Given the description of an element on the screen output the (x, y) to click on. 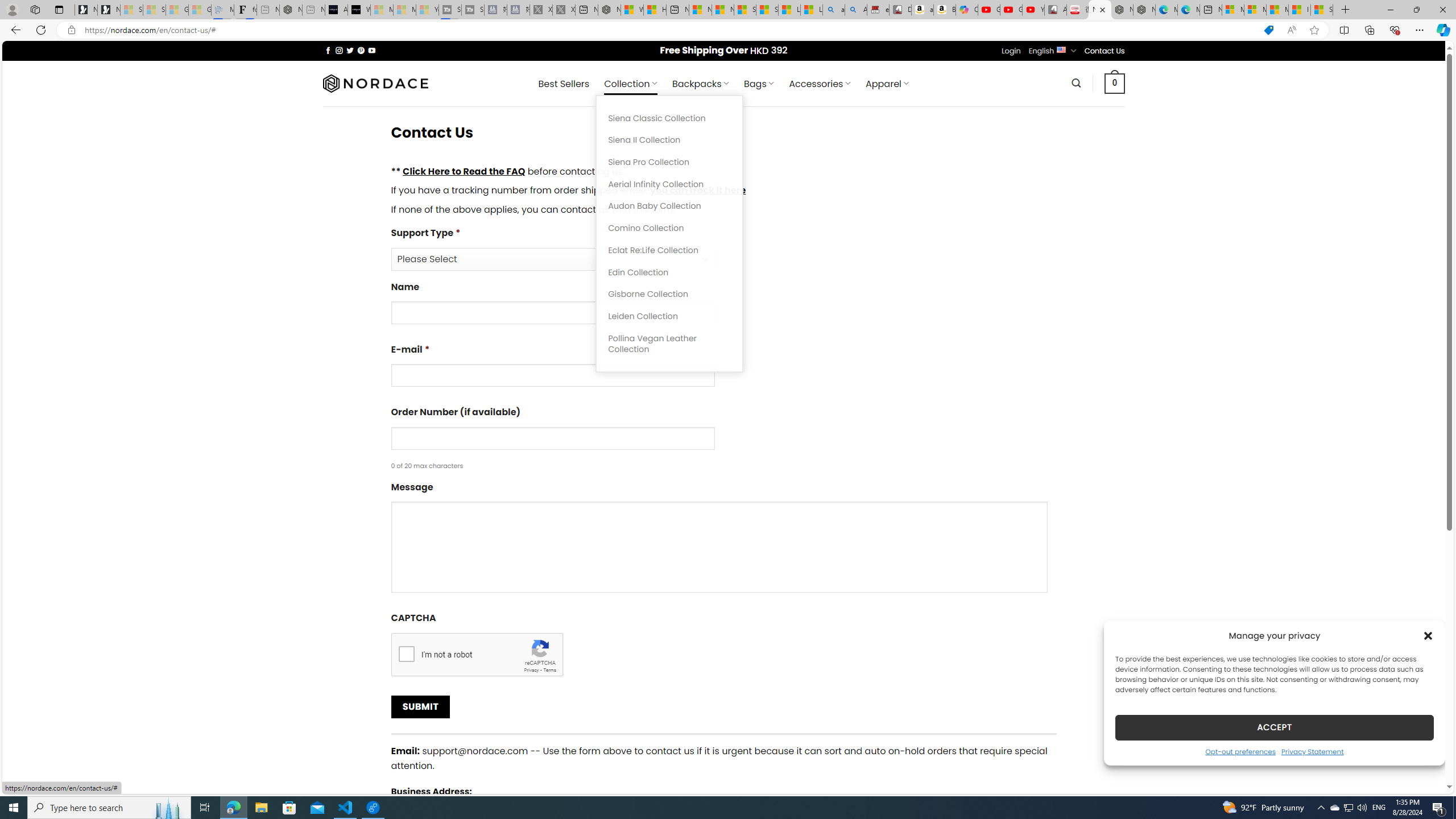
Comino Collection (669, 228)
E-mail* (723, 369)
